Given the description of an element on the screen output the (x, y) to click on. 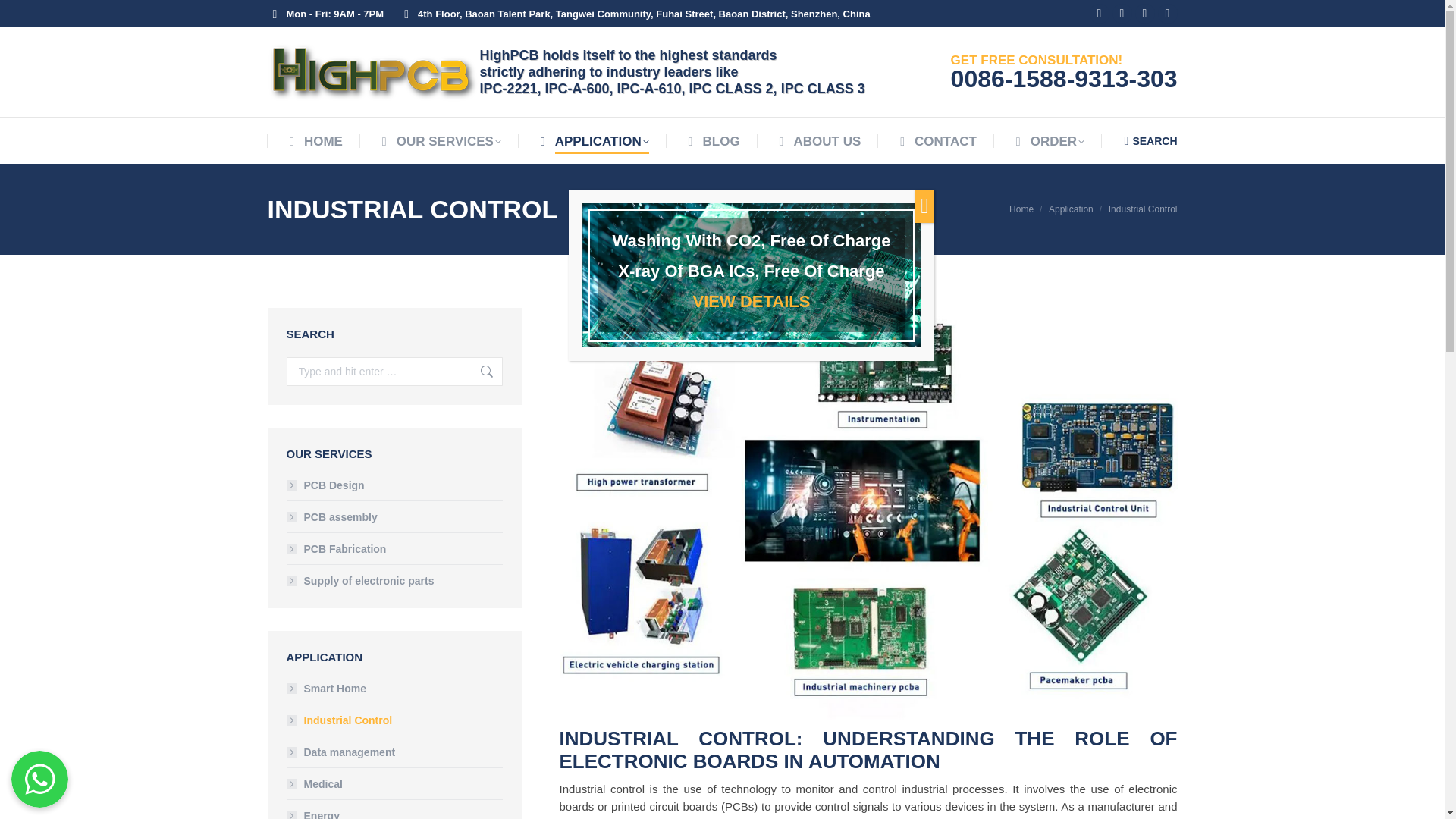
Linkedin page opens in new window (1099, 13)
Skype page opens in new window (1167, 13)
Go! (480, 371)
Instagram page opens in new window (1122, 13)
Instagram page opens in new window (1122, 13)
Linkedin page opens in new window (1099, 13)
Go! (480, 371)
Mail page opens in new window (1144, 13)
HOME (312, 141)
Skype page opens in new window (1167, 13)
OUR SERVICES (438, 141)
Mail page opens in new window (1144, 13)
